Given the description of an element on the screen output the (x, y) to click on. 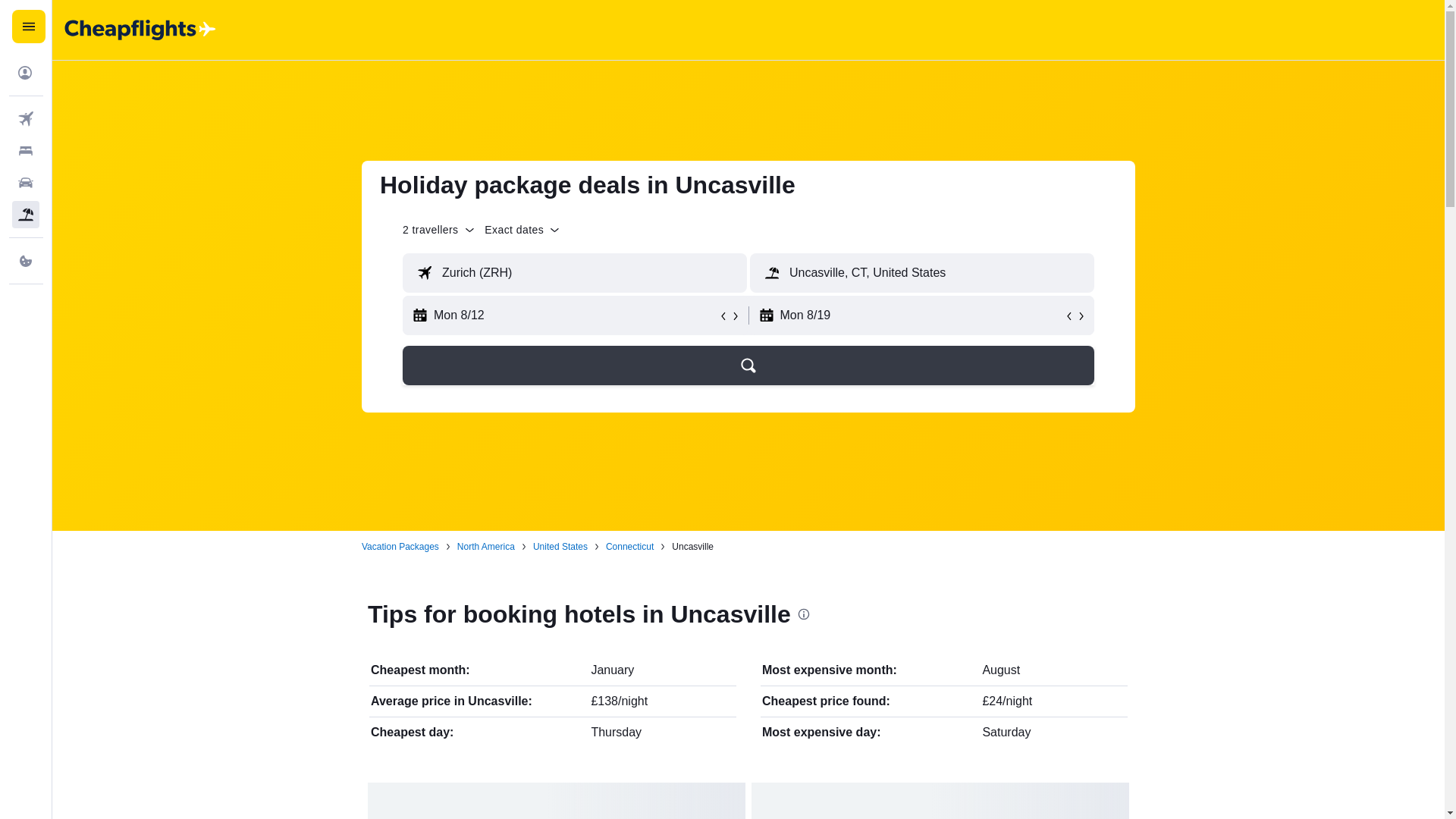
Connecticut (629, 546)
North America (486, 546)
United States (560, 546)
Vacation Packages (400, 546)
January (612, 669)
Saturday (1005, 731)
Thursday (616, 731)
August (1000, 669)
